Given the description of an element on the screen output the (x, y) to click on. 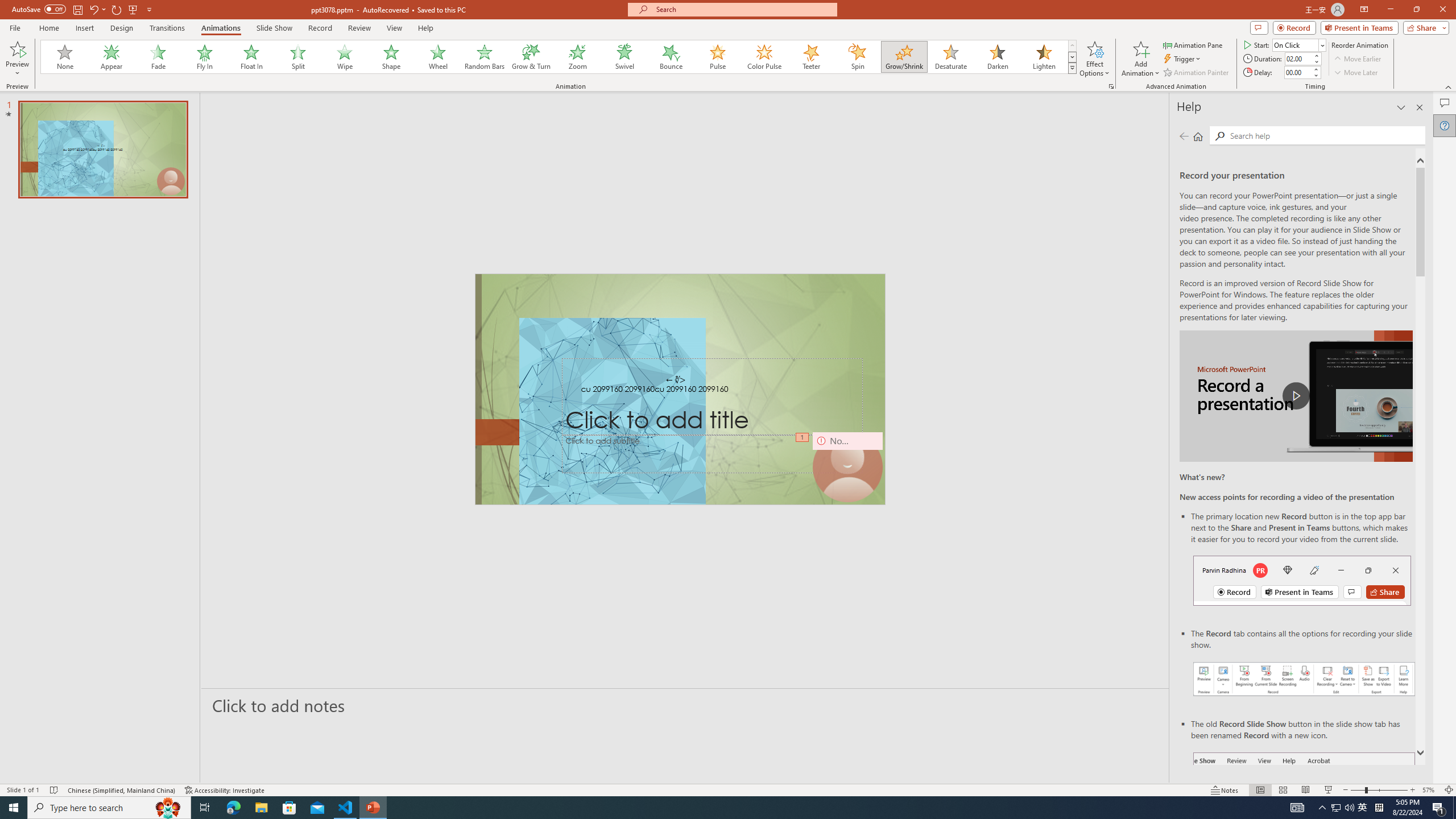
Appear (111, 56)
Bounce (670, 56)
Animation Styles (1071, 67)
Animation Duration (1298, 58)
